Given the description of an element on the screen output the (x, y) to click on. 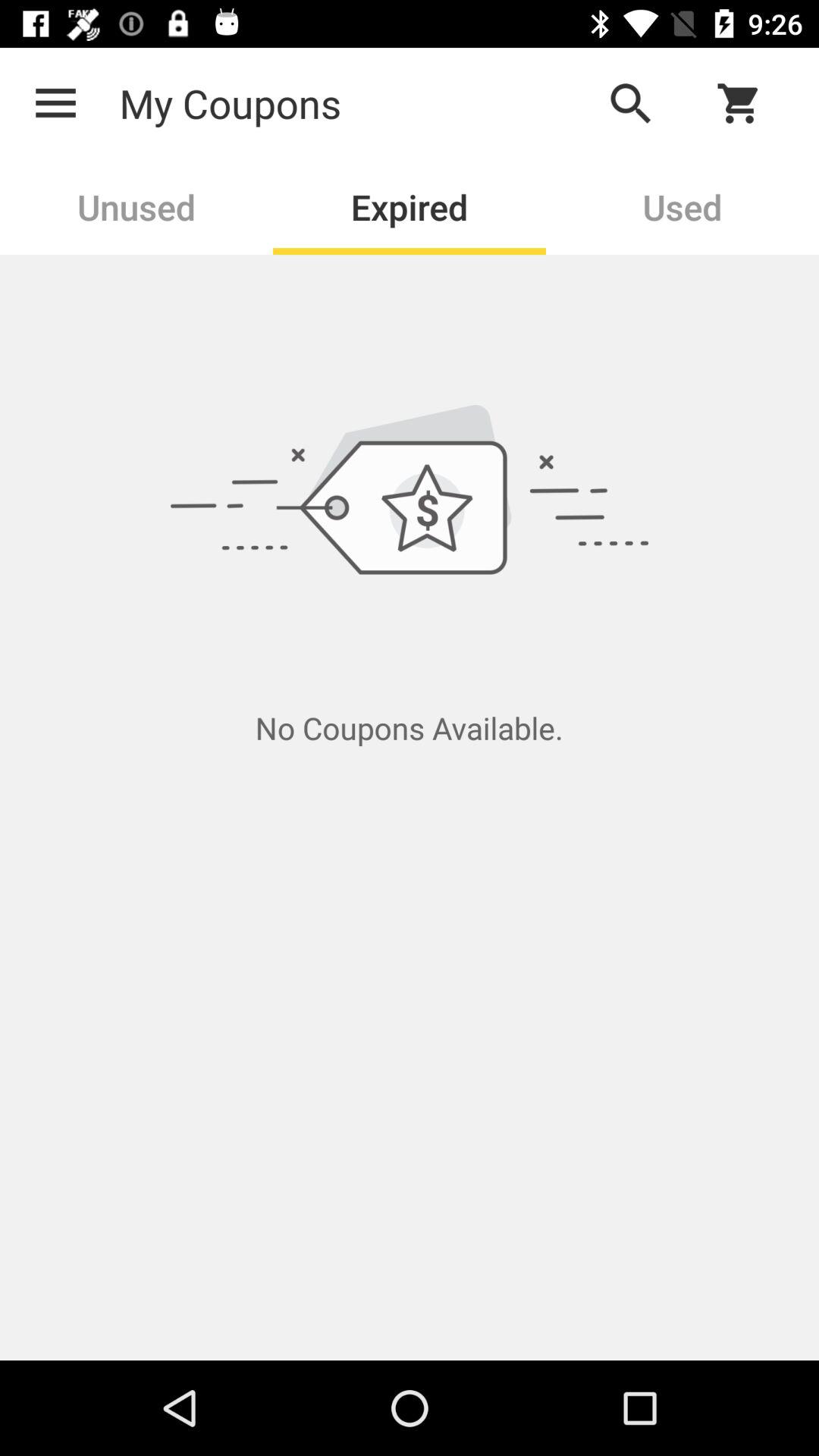
go do puchers (748, 103)
